Given the description of an element on the screen output the (x, y) to click on. 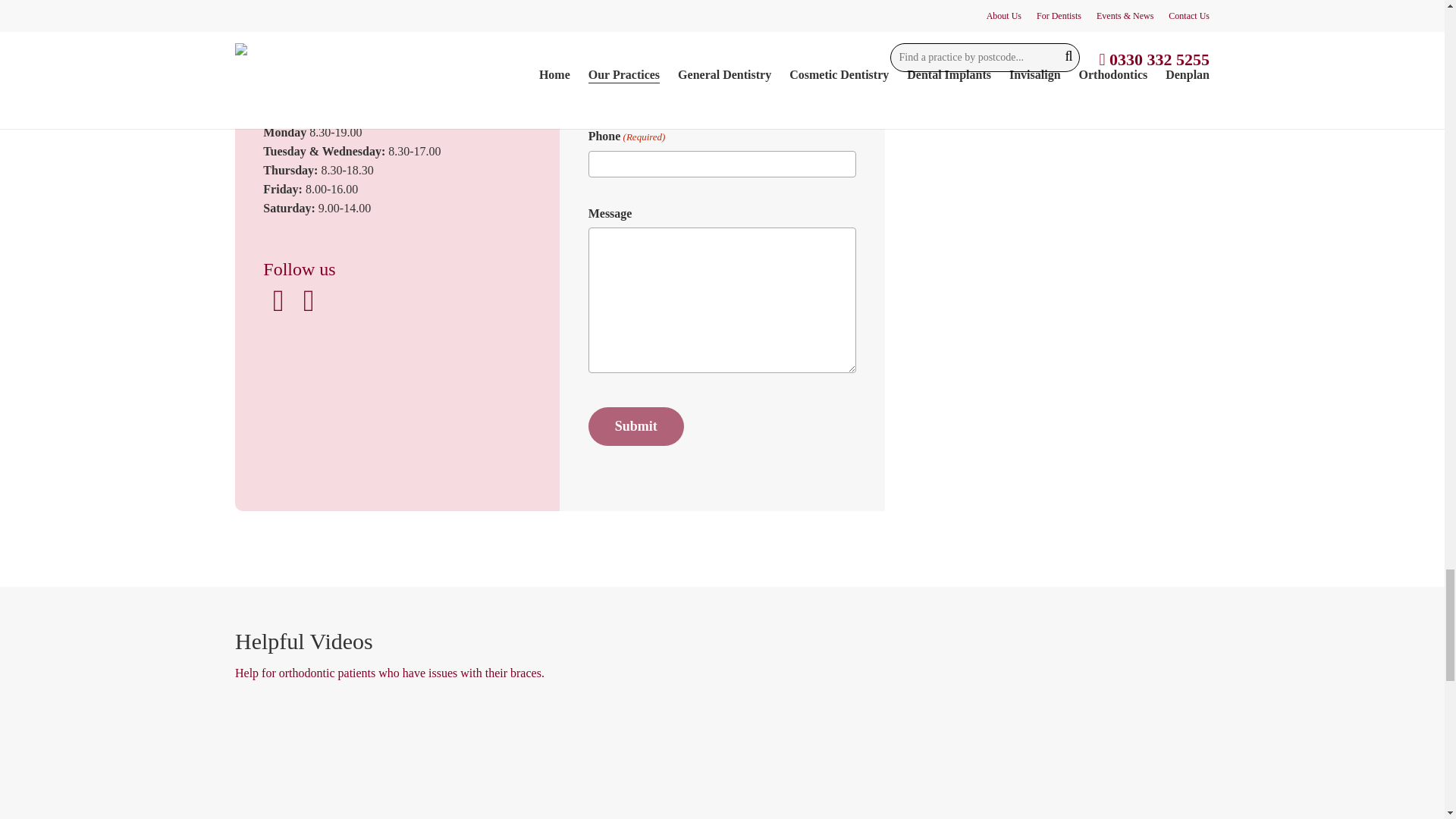
Submit (636, 426)
Submit (636, 426)
